Given the description of an element on the screen output the (x, y) to click on. 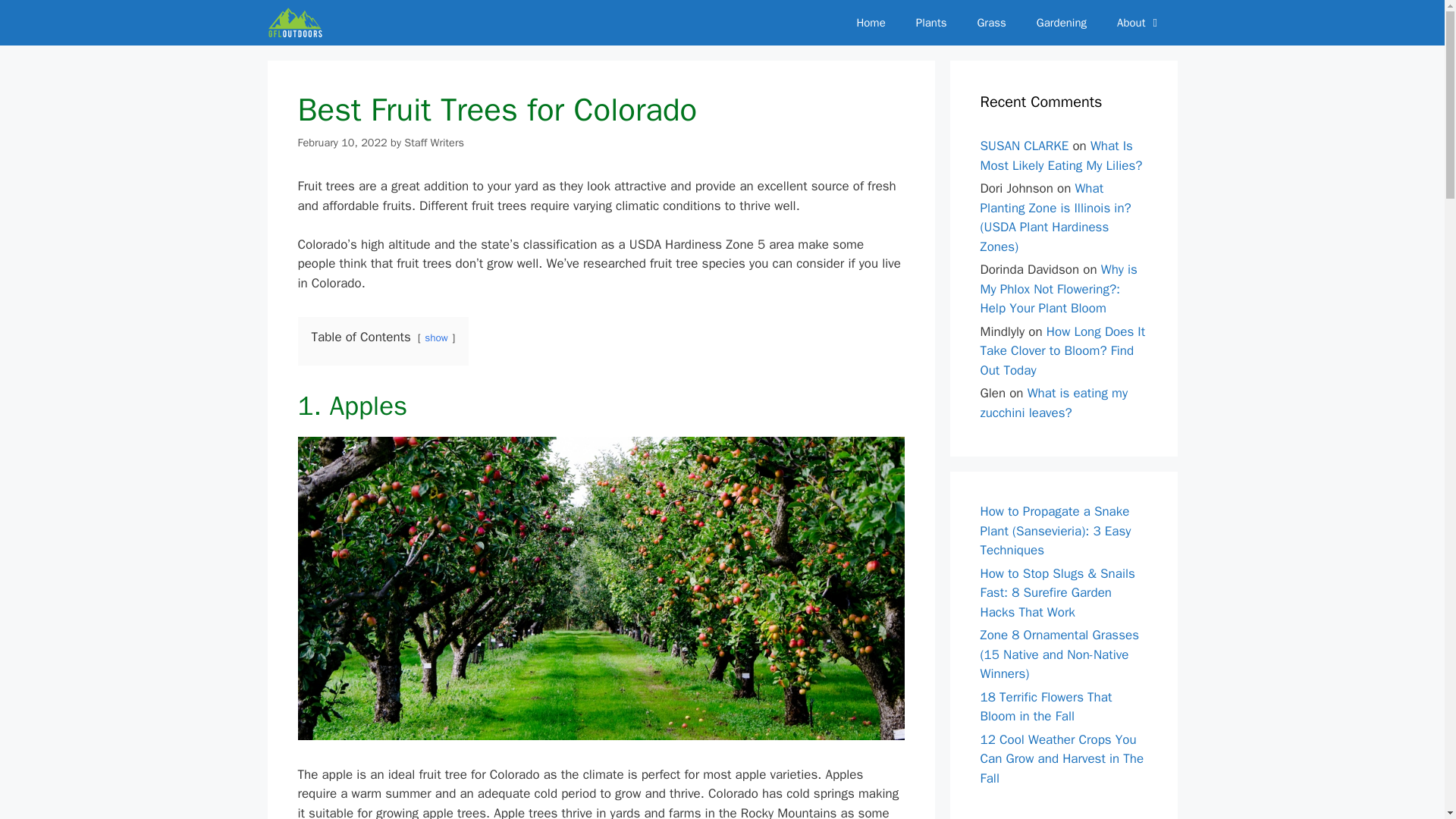
Why is My Phlox Not Flowering?: Help Your Plant Bloom (1058, 288)
How Long Does It Take Clover to Bloom? Find Out Today (1061, 349)
What is eating my zucchini leaves? (1052, 402)
View all posts by Staff Writers (434, 142)
What Is Most Likely Eating My Lilies? (1060, 155)
GFL Outdoors (293, 22)
18 Terrific Flowers That Bloom in the Fall (1045, 705)
Gardening (1062, 22)
12 Cool Weather Crops You Can Grow and Harvest in The Fall (1060, 758)
About (1139, 22)
